Given the description of an element on the screen output the (x, y) to click on. 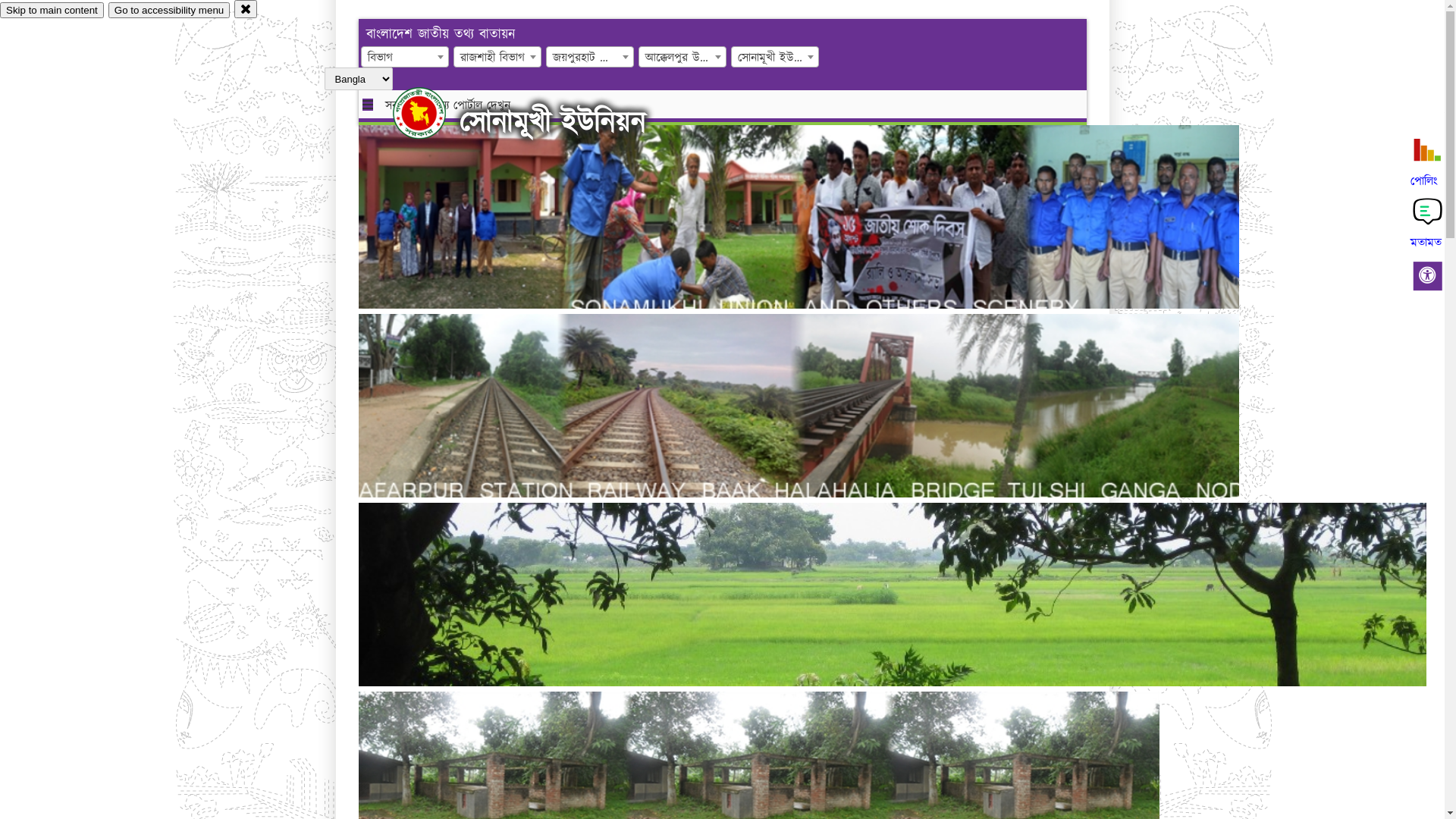
Skip to main content Element type: text (51, 10)
close Element type: hover (245, 9)
Go to accessibility menu Element type: text (168, 10)

                
             Element type: hover (431, 112)
